Given the description of an element on the screen output the (x, y) to click on. 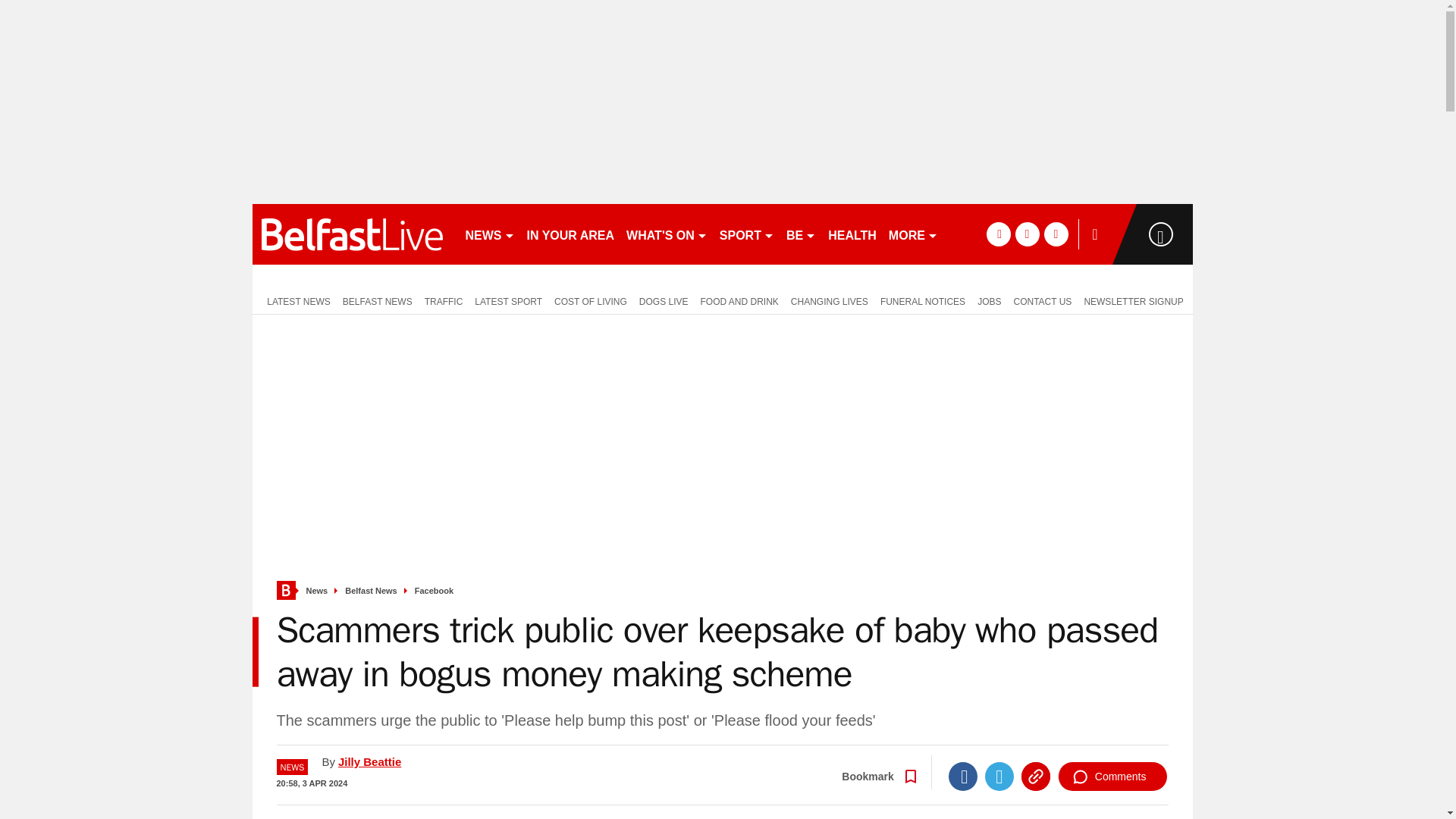
NEWS (490, 233)
WHAT'S ON (666, 233)
IN YOUR AREA (569, 233)
instagram (1055, 233)
Twitter (999, 776)
belfastlive (351, 233)
SPORT (746, 233)
twitter (1026, 233)
Facebook (962, 776)
facebook (997, 233)
Comments (1112, 776)
